Given the description of an element on the screen output the (x, y) to click on. 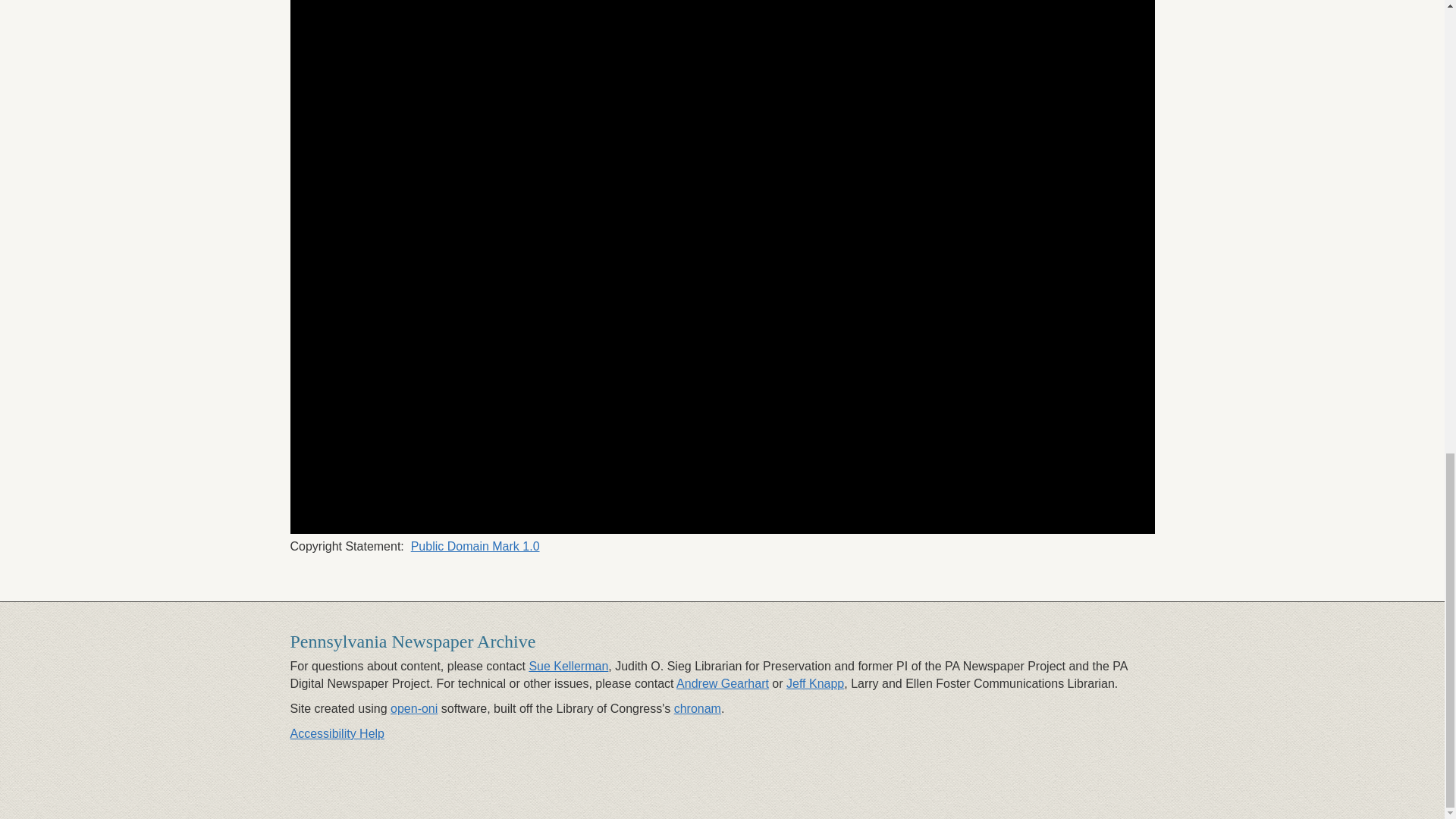
Accessibility Help (336, 733)
Public Domain Mark 1.0 (475, 545)
Jeff Knapp (815, 683)
chronam (697, 707)
Sue Kellerman (568, 666)
open-oni (414, 707)
Andrew Gearhart (722, 683)
